Given the description of an element on the screen output the (x, y) to click on. 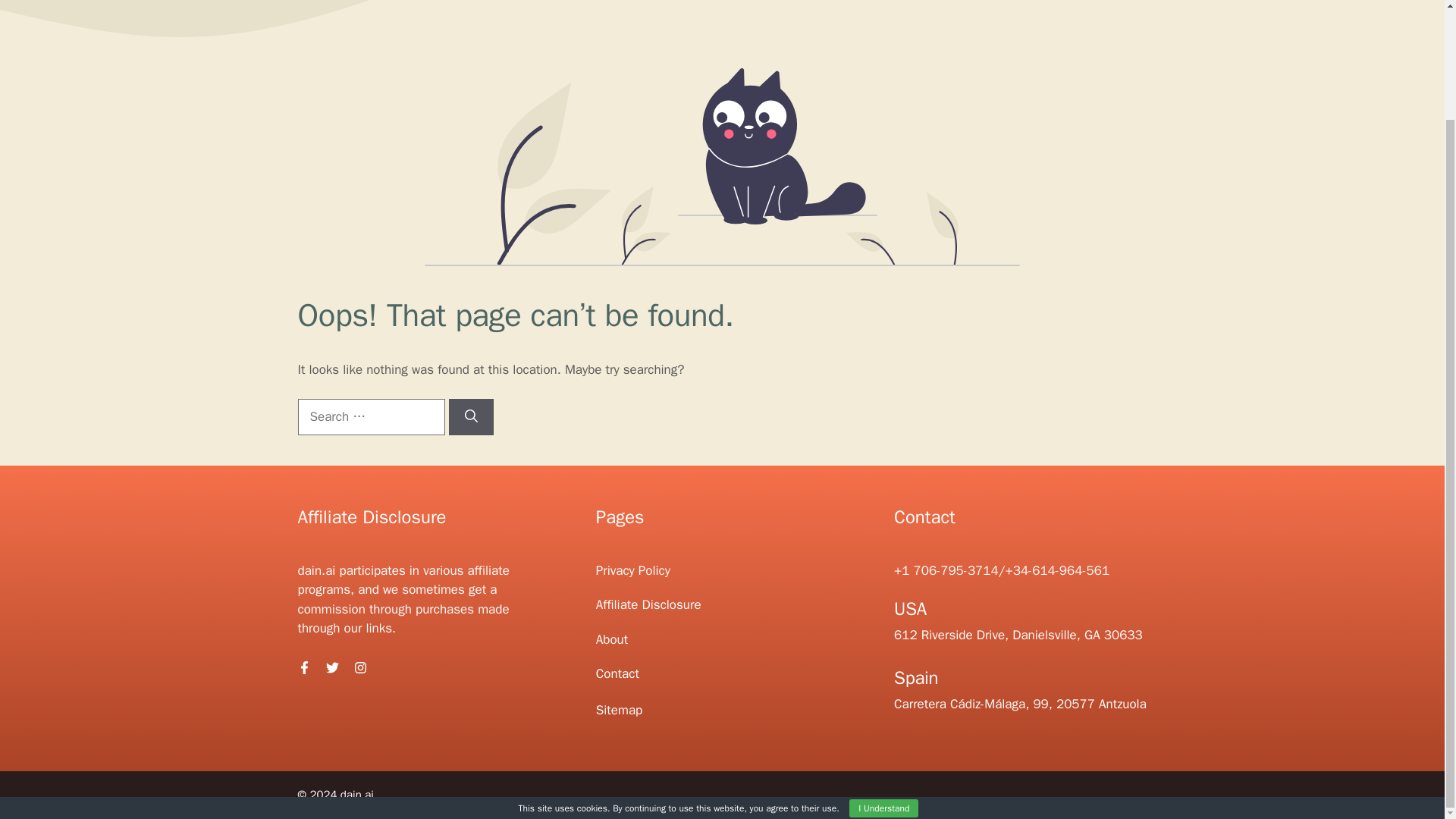
Sitemap (618, 709)
Search for: (370, 416)
Affiliate Disclosure (648, 604)
Contact (617, 673)
I Understand (883, 679)
About (611, 639)
Privacy Policy (632, 570)
